Given the description of an element on the screen output the (x, y) to click on. 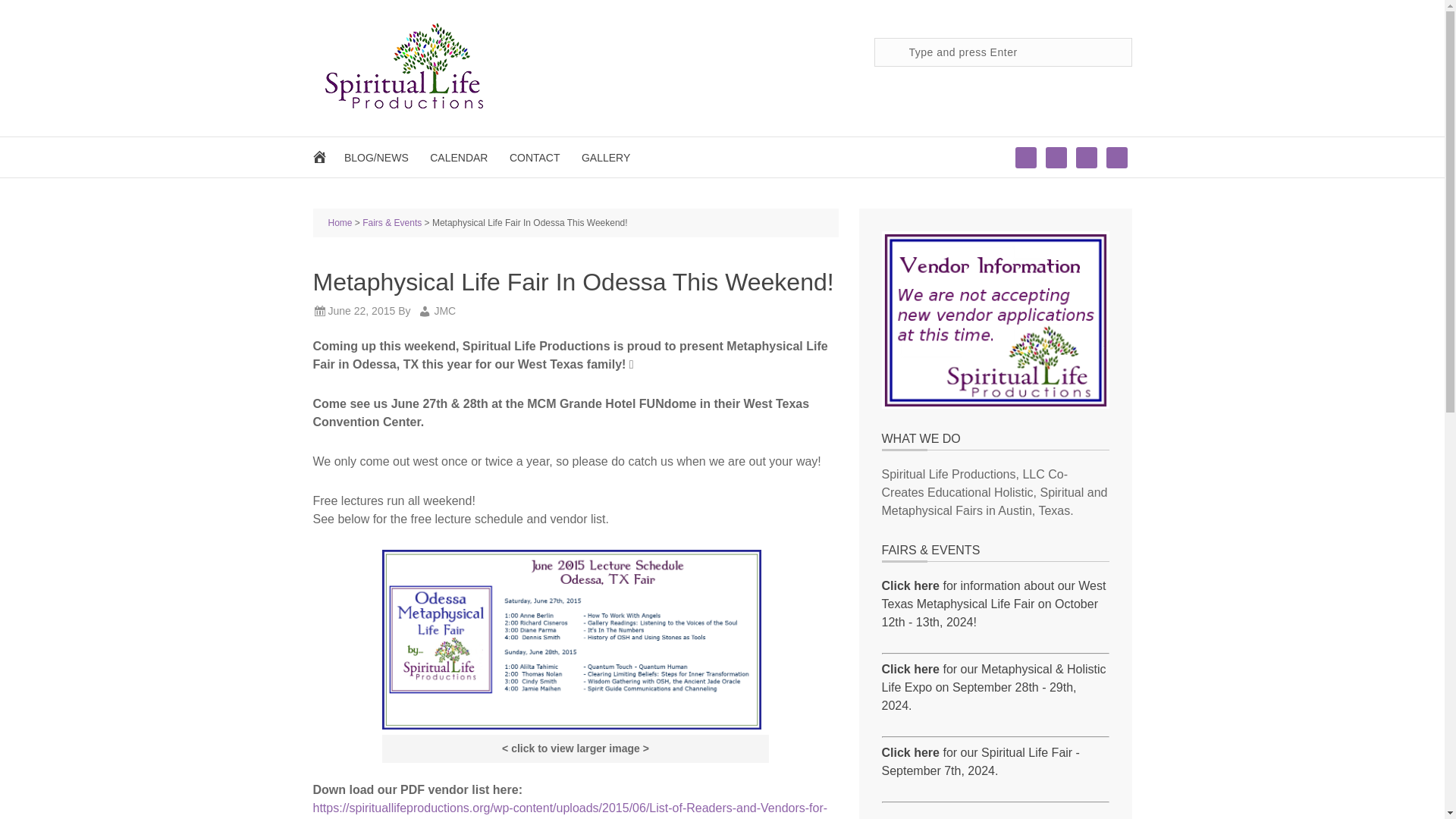
CALENDAR (458, 157)
Search (1153, 44)
Search (1153, 44)
GALLERY (605, 157)
JMC (434, 310)
Home (339, 222)
